Given the description of an element on the screen output the (x, y) to click on. 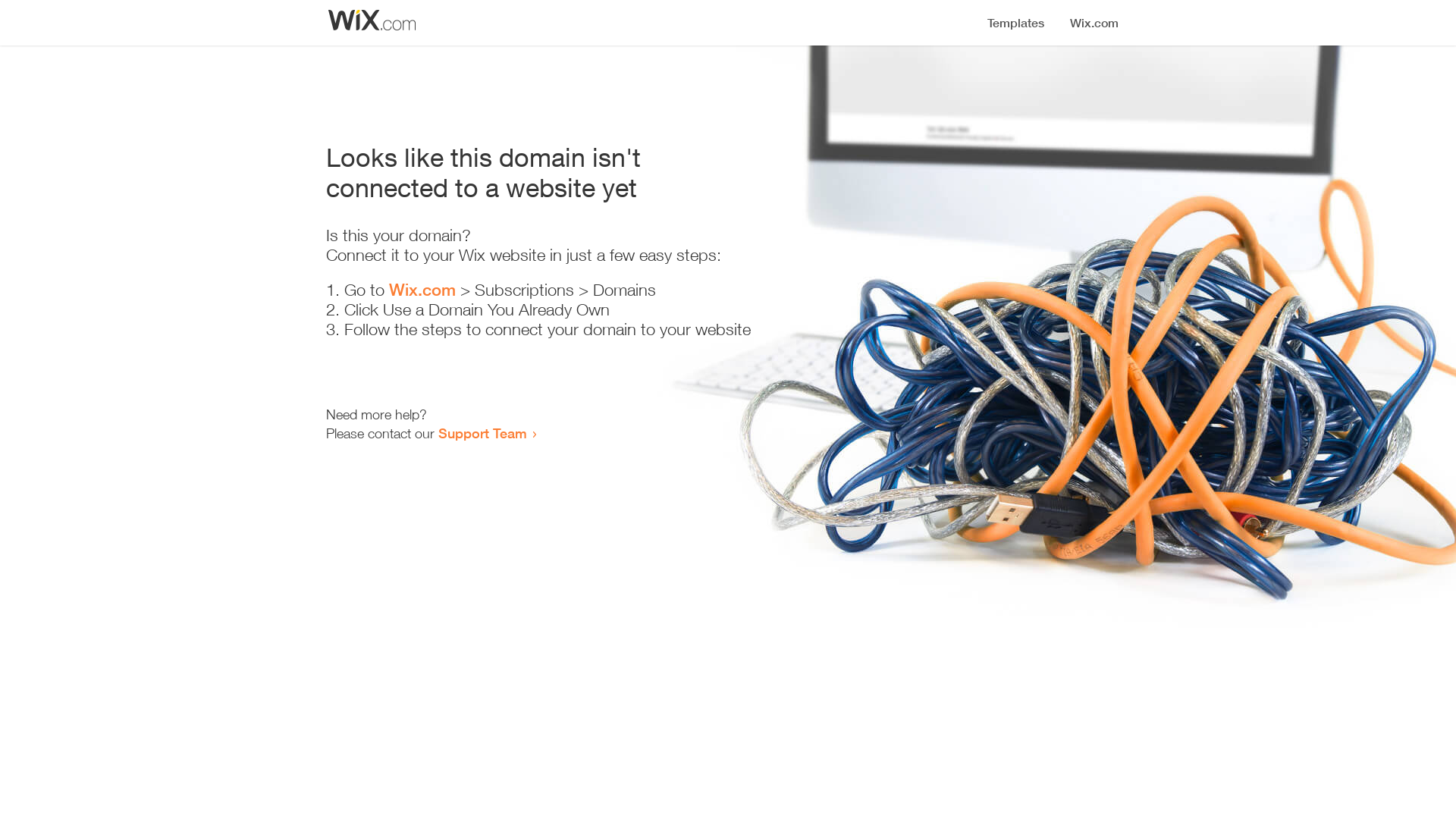
Wix.com Element type: text (422, 289)
Support Team Element type: text (482, 432)
